Given the description of an element on the screen output the (x, y) to click on. 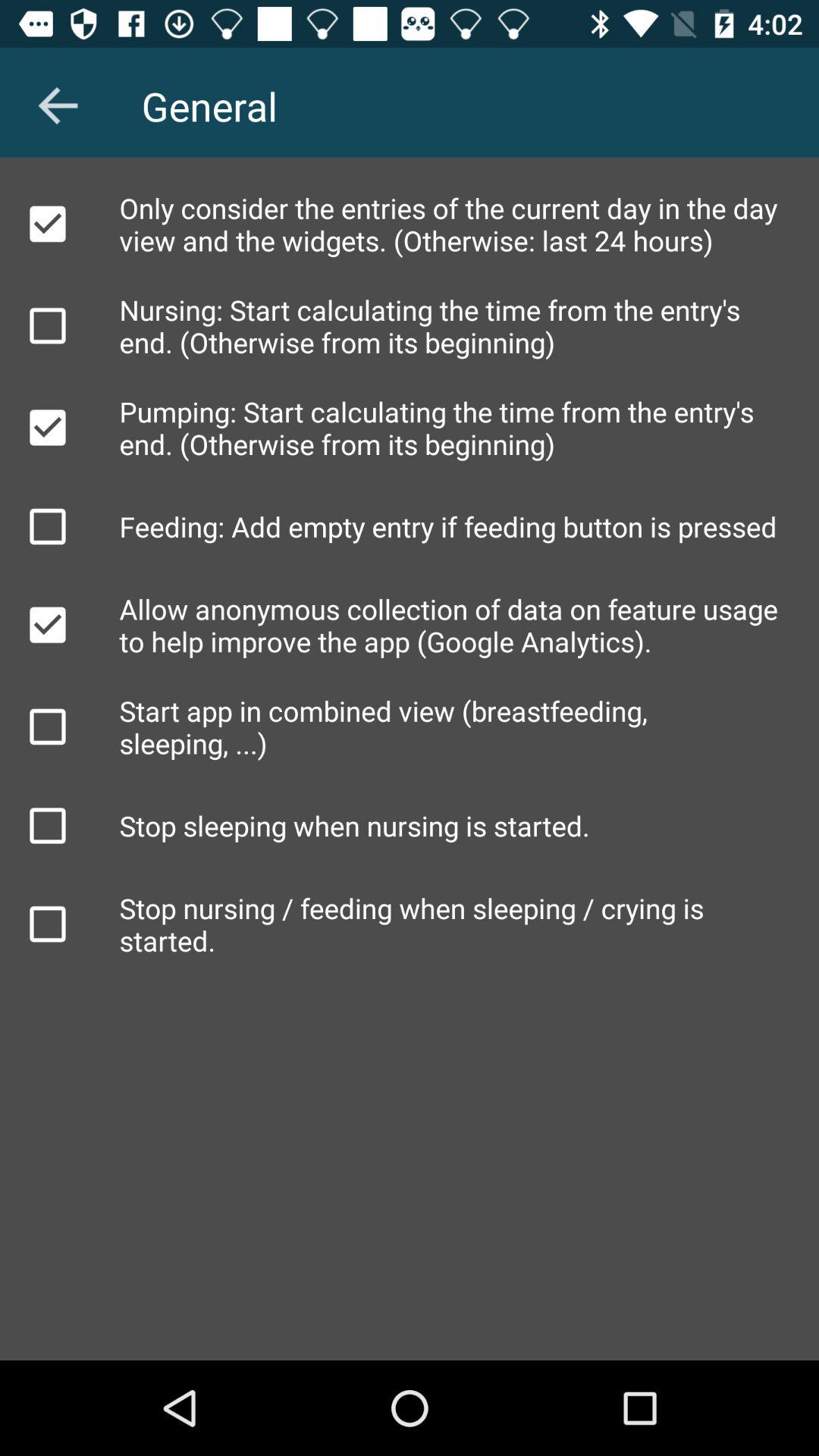
select option (47, 325)
